Given the description of an element on the screen output the (x, y) to click on. 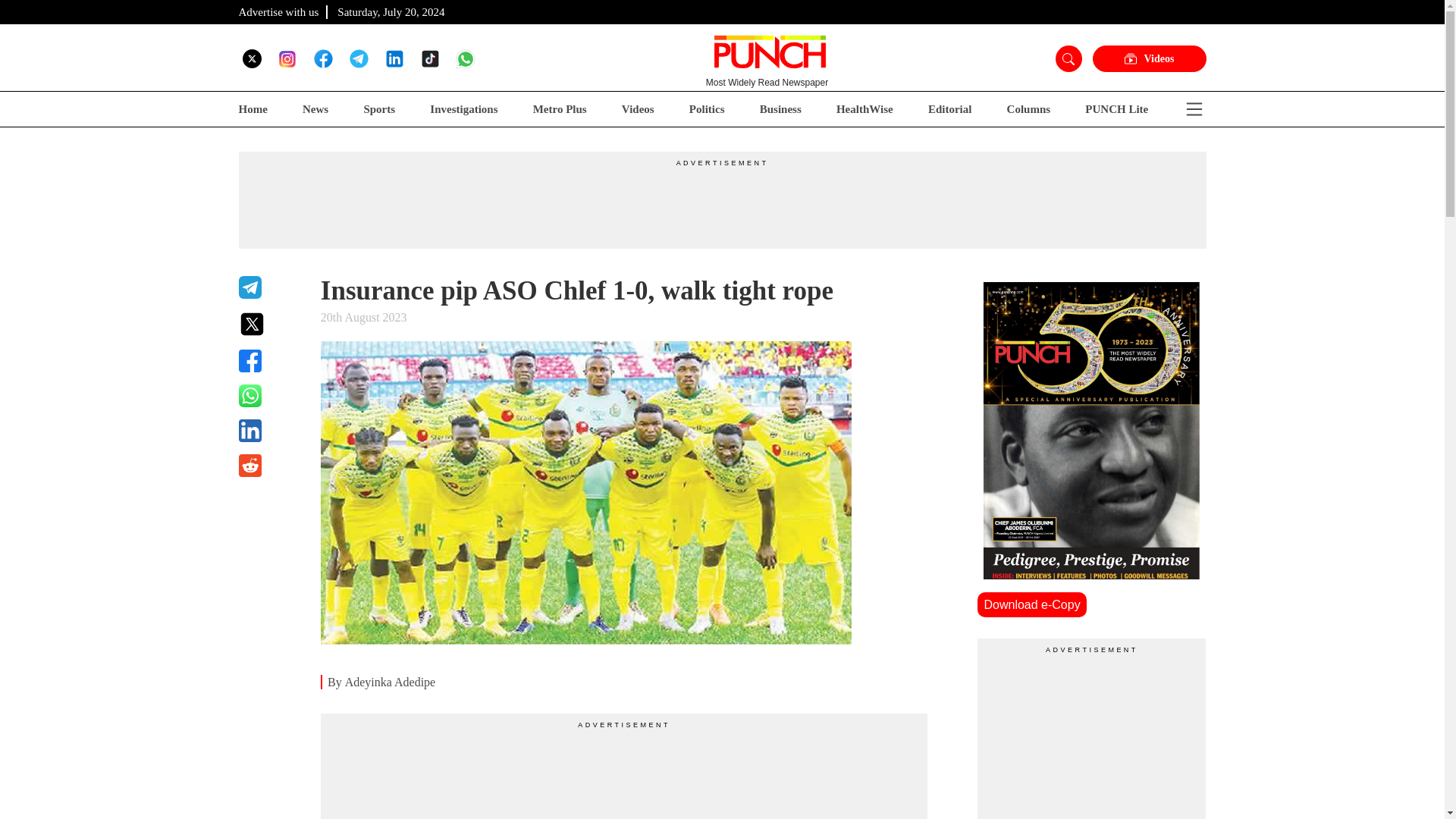
Share on Twitter (269, 324)
Politics (706, 109)
Home (252, 109)
Editorial (950, 109)
Advertise with us (278, 11)
HealthWise (864, 109)
Follow us on Tiktok (430, 58)
News (315, 109)
3rd party ad content (721, 202)
Share on Telegram (269, 287)
Share on Reddit (269, 465)
Investigations (463, 109)
Business (781, 109)
3rd party ad content (1091, 737)
Metro Plus (559, 109)
